Given the description of an element on the screen output the (x, y) to click on. 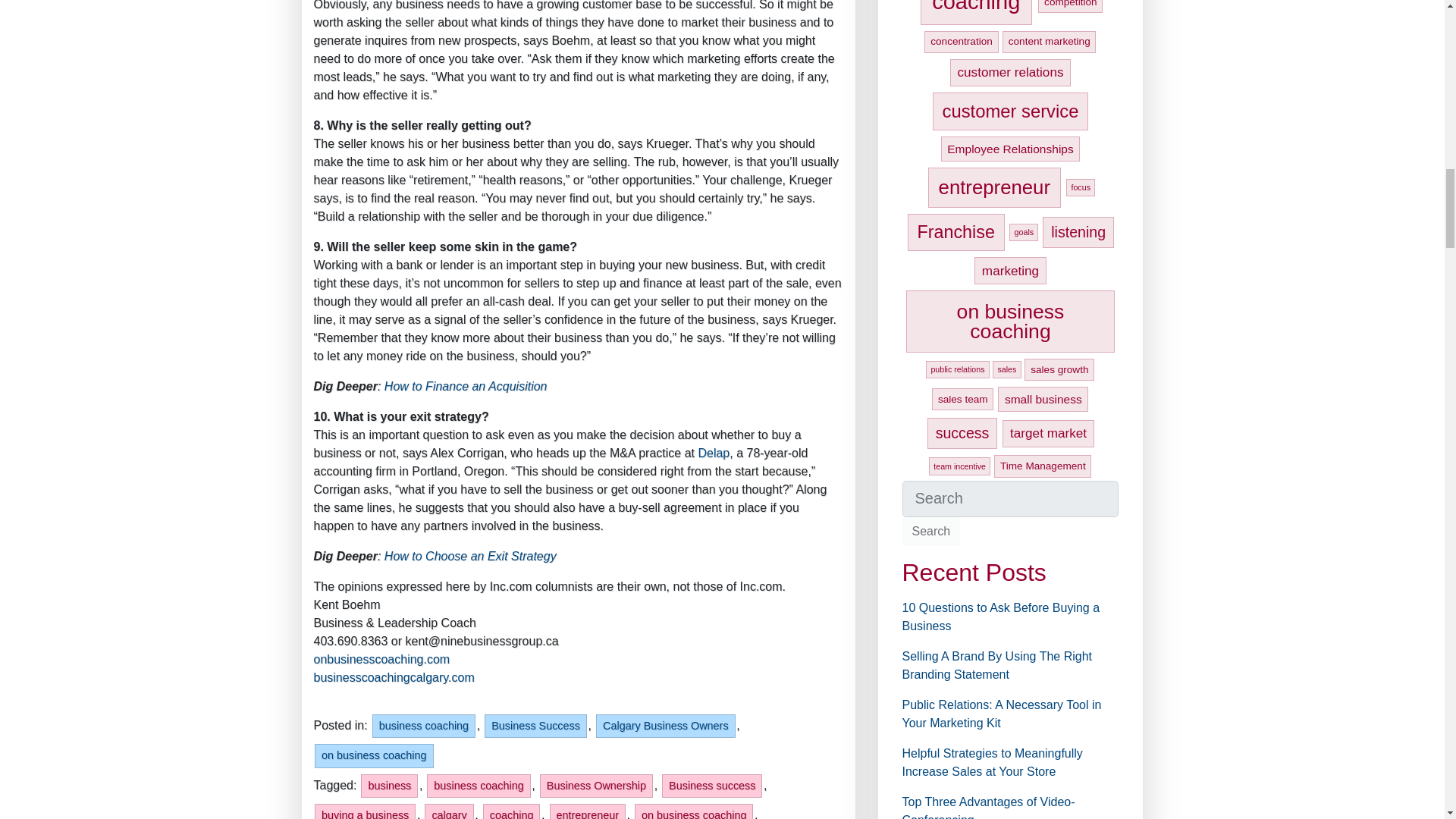
business (389, 785)
How to Choose an Exit Strategy (470, 555)
Calgary Business Owners (665, 726)
business coaching (477, 785)
on business coaching (373, 755)
businesscoachingcalgary.com (394, 676)
Business Success (535, 726)
How to Finance an Acquisition (465, 386)
Delap (713, 452)
business coaching (424, 726)
